Given the description of an element on the screen output the (x, y) to click on. 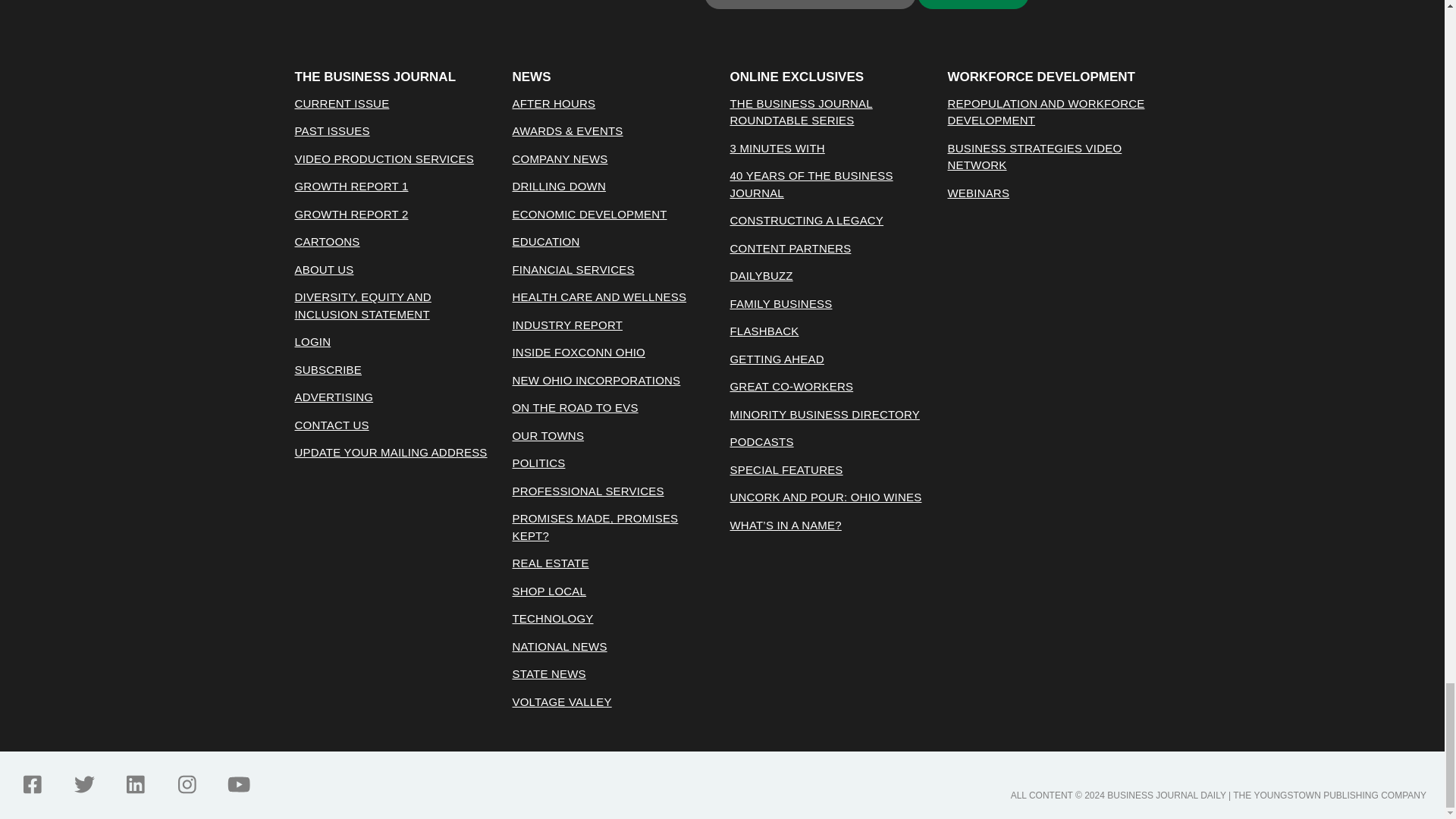
Twitter (84, 783)
Twitter (84, 783)
Sign Up (973, 4)
YouTube (238, 783)
